Given the description of an element on the screen output the (x, y) to click on. 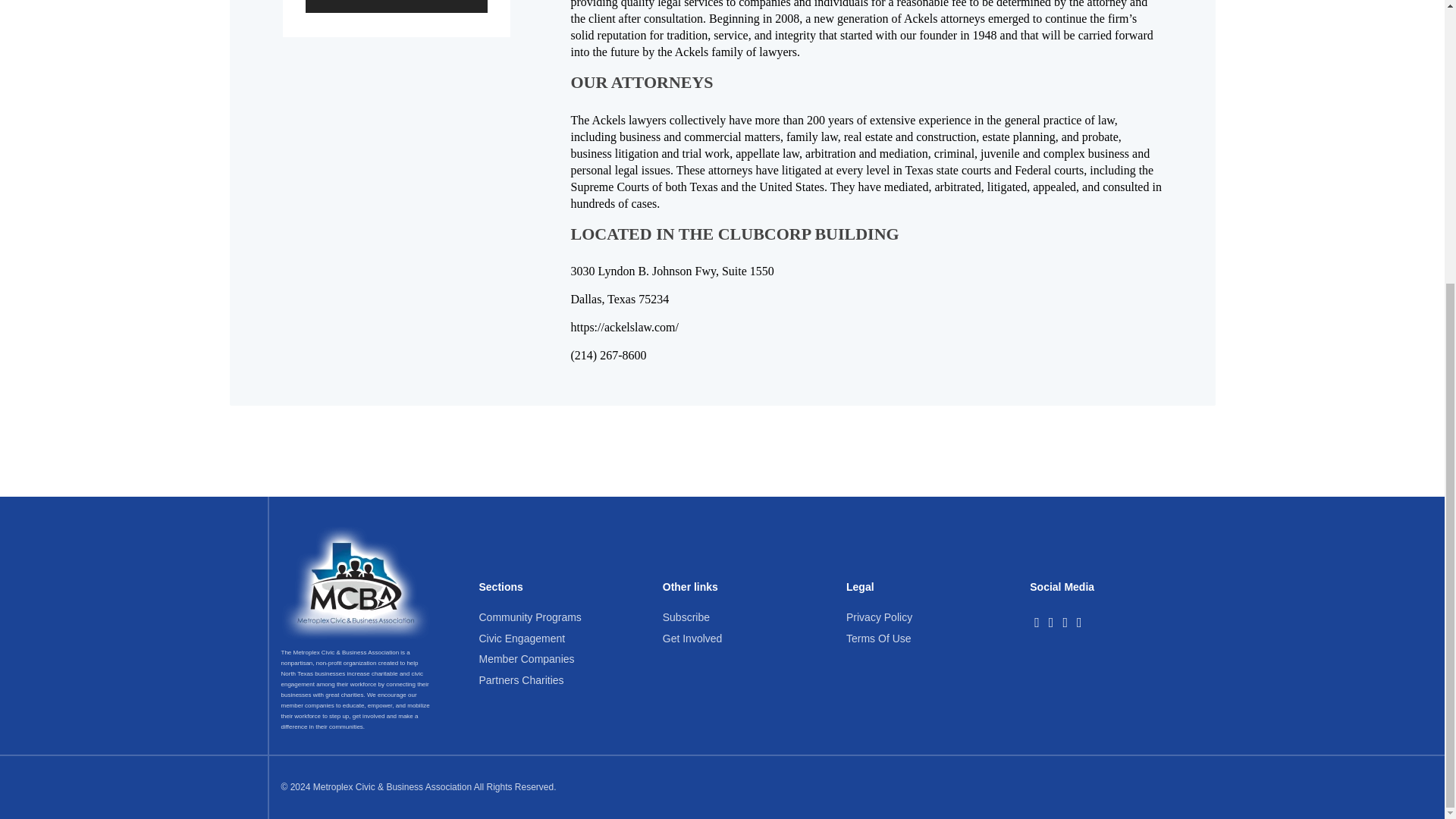
Get Involved (692, 638)
Civic Engagement (522, 638)
Member Companies (527, 658)
Subscribe (686, 616)
Terms Of Use (878, 638)
Privacy Policy (878, 616)
Community Programs (529, 616)
Partners Charities (521, 680)
